Given the description of an element on the screen output the (x, y) to click on. 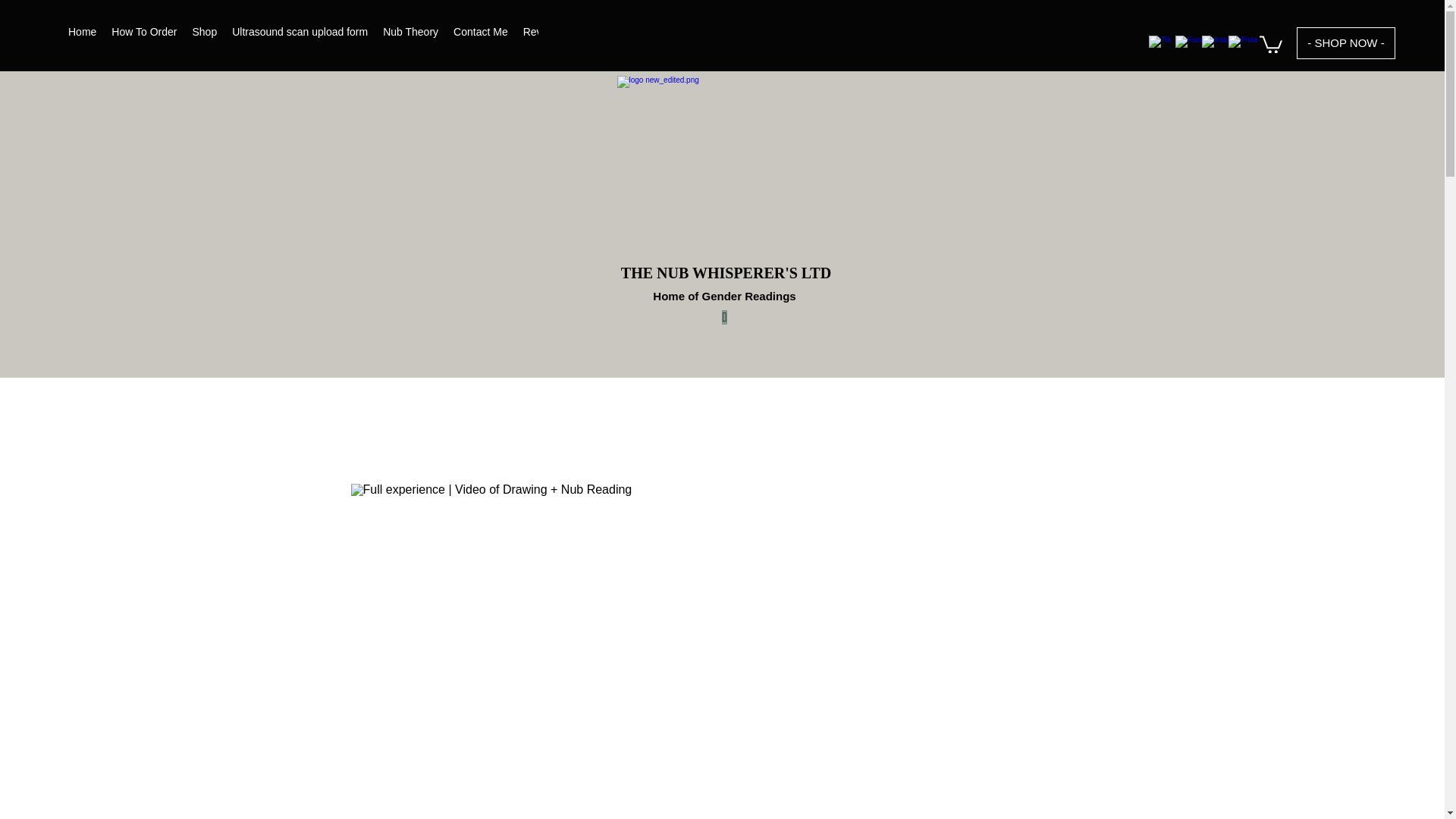
Shop (204, 33)
Ultrasound scan upload form (299, 33)
Nub Theory (410, 33)
- SHOP NOW - (1345, 42)
Contact Me (480, 33)
Reviews (542, 33)
Home (82, 33)
How To Order (143, 33)
